Given the description of an element on the screen output the (x, y) to click on. 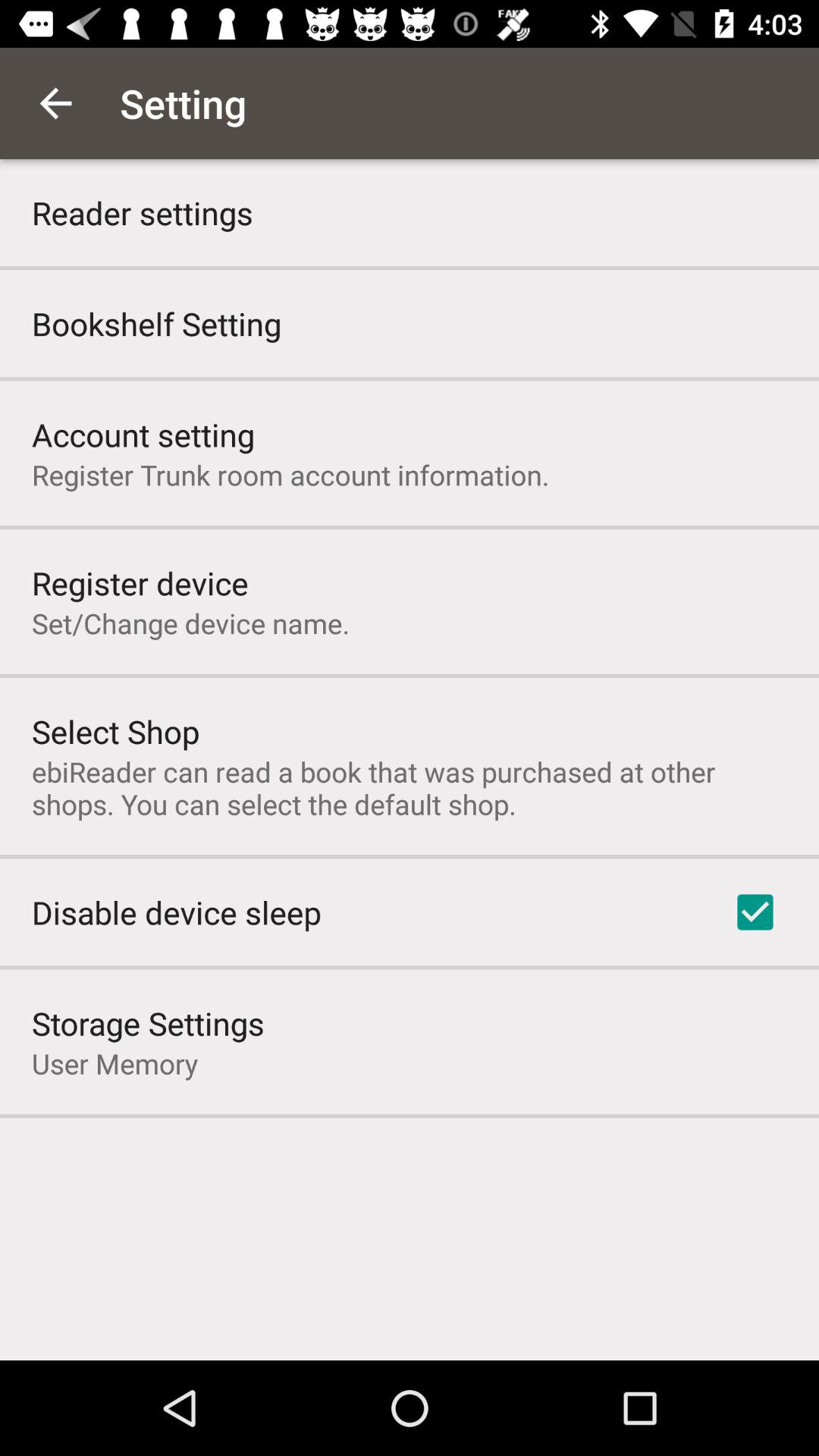
launch item below register device icon (190, 623)
